Given the description of an element on the screen output the (x, y) to click on. 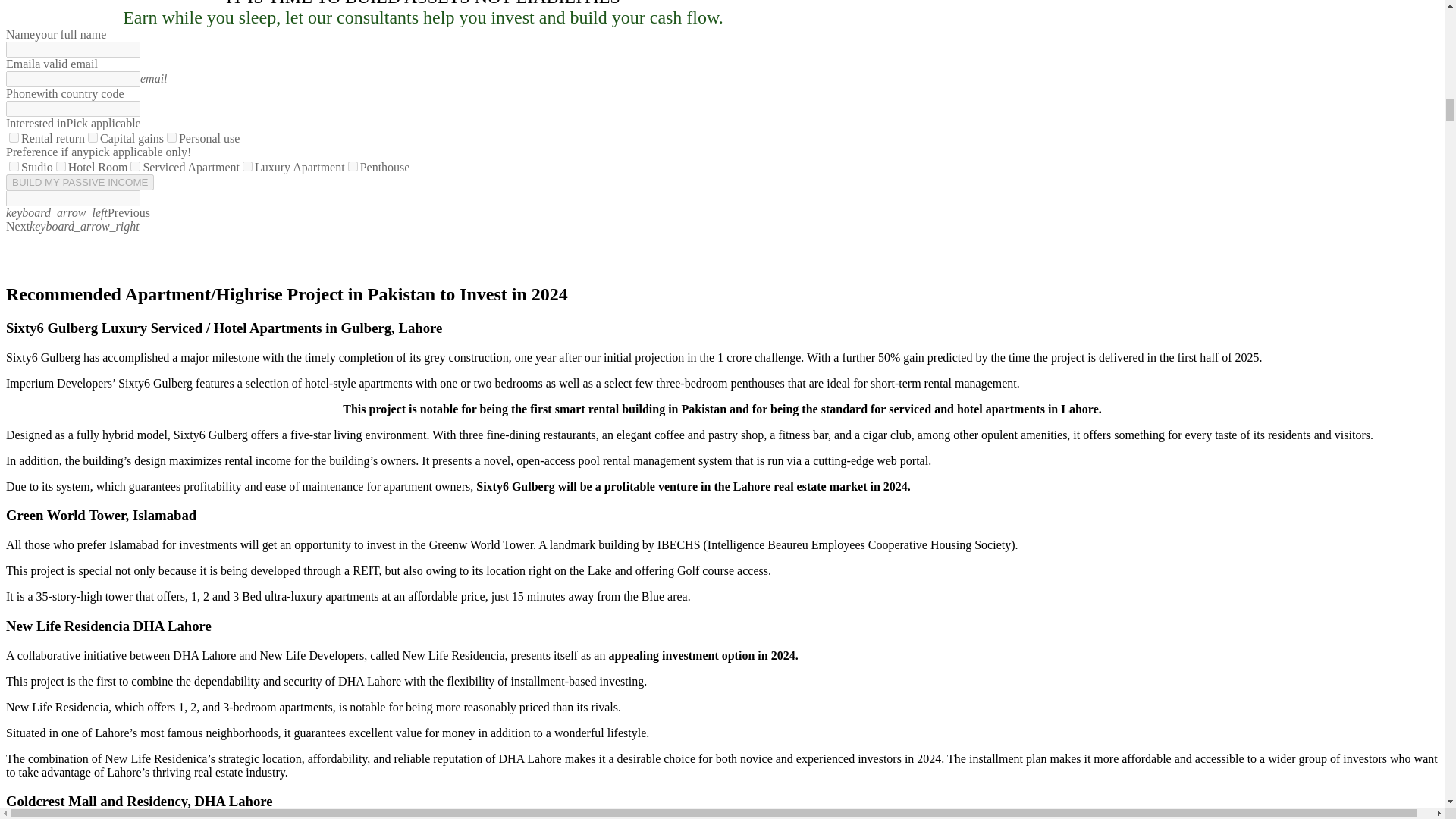
Studio (13, 166)
Personal use (171, 137)
Rental return (13, 137)
Capital gains (92, 137)
